Given the description of an element on the screen output the (x, y) to click on. 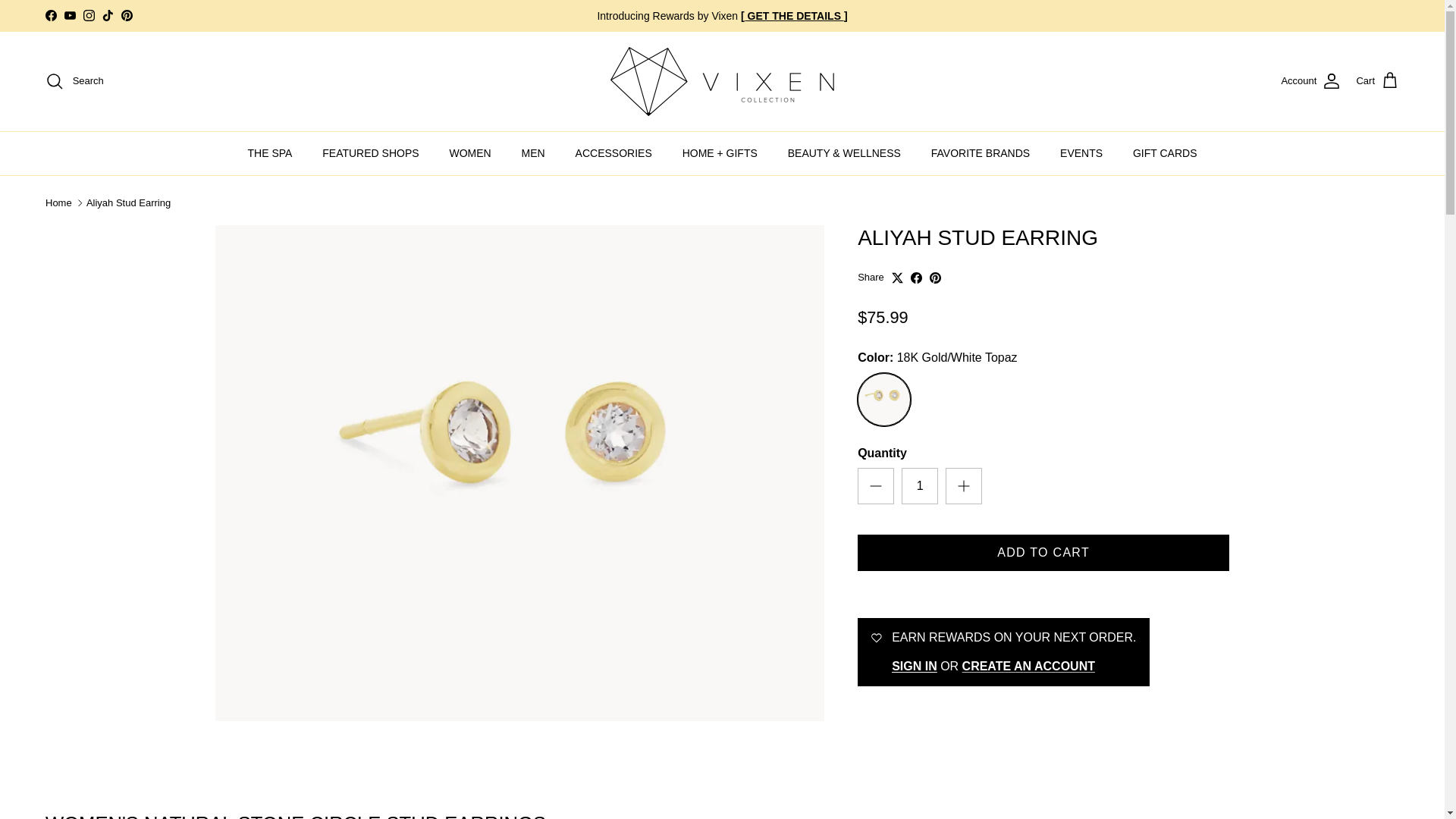
1 (919, 485)
Share on Facebook (916, 277)
Vixen Collection on Pinterest (126, 15)
Search (74, 81)
Cart (1377, 80)
Vixen Collection on YouTube (69, 15)
Create a Reward Account at Vixen Collection  (1028, 666)
Pin on Pinterest (935, 277)
THE SPA (268, 153)
Pinterest (126, 15)
